Given the description of an element on the screen output the (x, y) to click on. 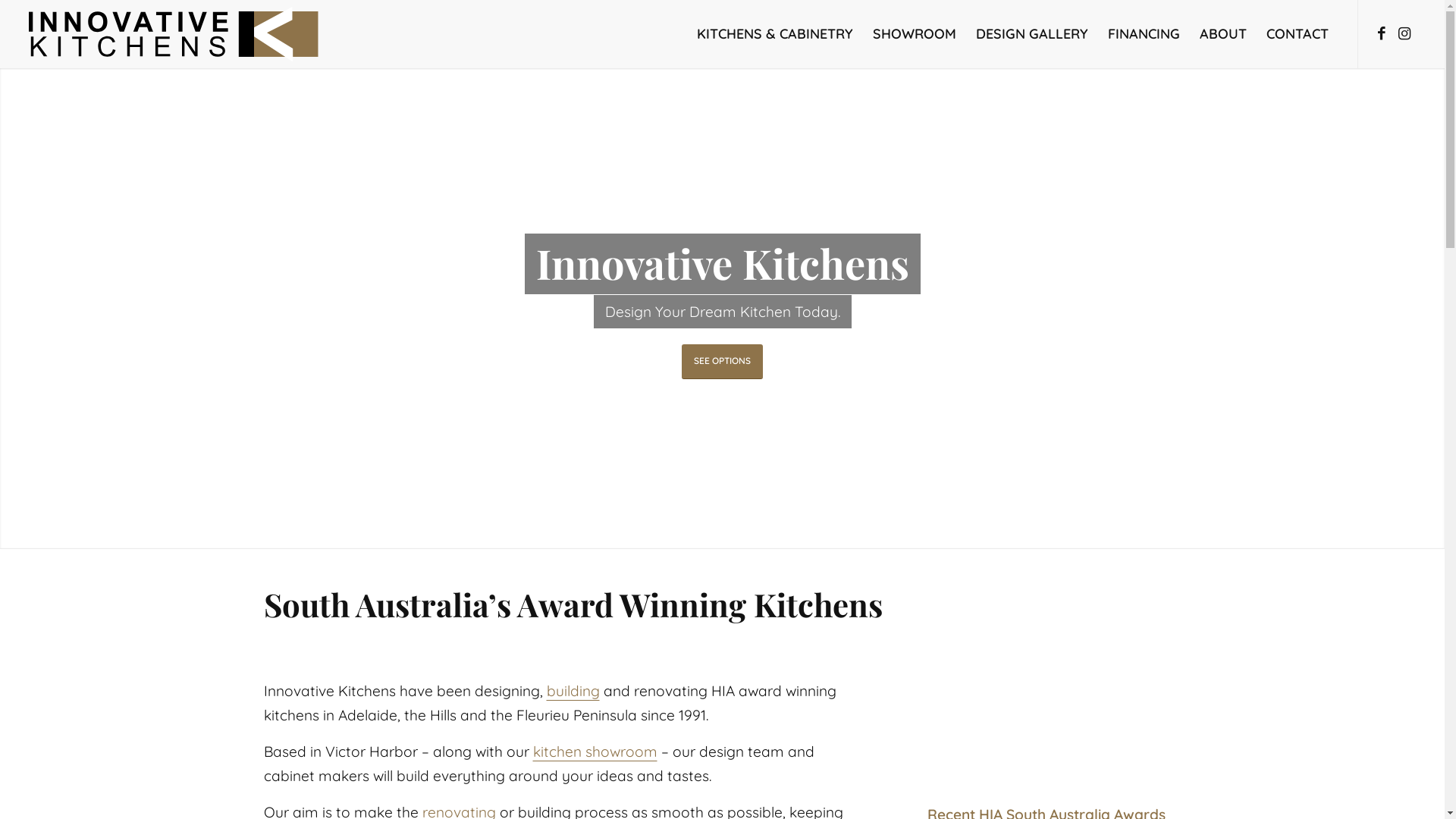
ABOUT Element type: text (1222, 34)
SHOWROOM Element type: text (914, 34)
SEE OPTIONS Element type: text (721, 361)
DESIGN GALLERY Element type: text (1032, 34)
CONTACT Element type: text (1297, 34)
Facebook Element type: hover (1381, 32)
kitchen showroom Element type: text (594, 751)
KITCHENS & CABINETRY Element type: text (774, 34)
building Element type: text (572, 690)
FINANCING Element type: text (1143, 34)
Instagram Element type: hover (1404, 32)
